Given the description of an element on the screen output the (x, y) to click on. 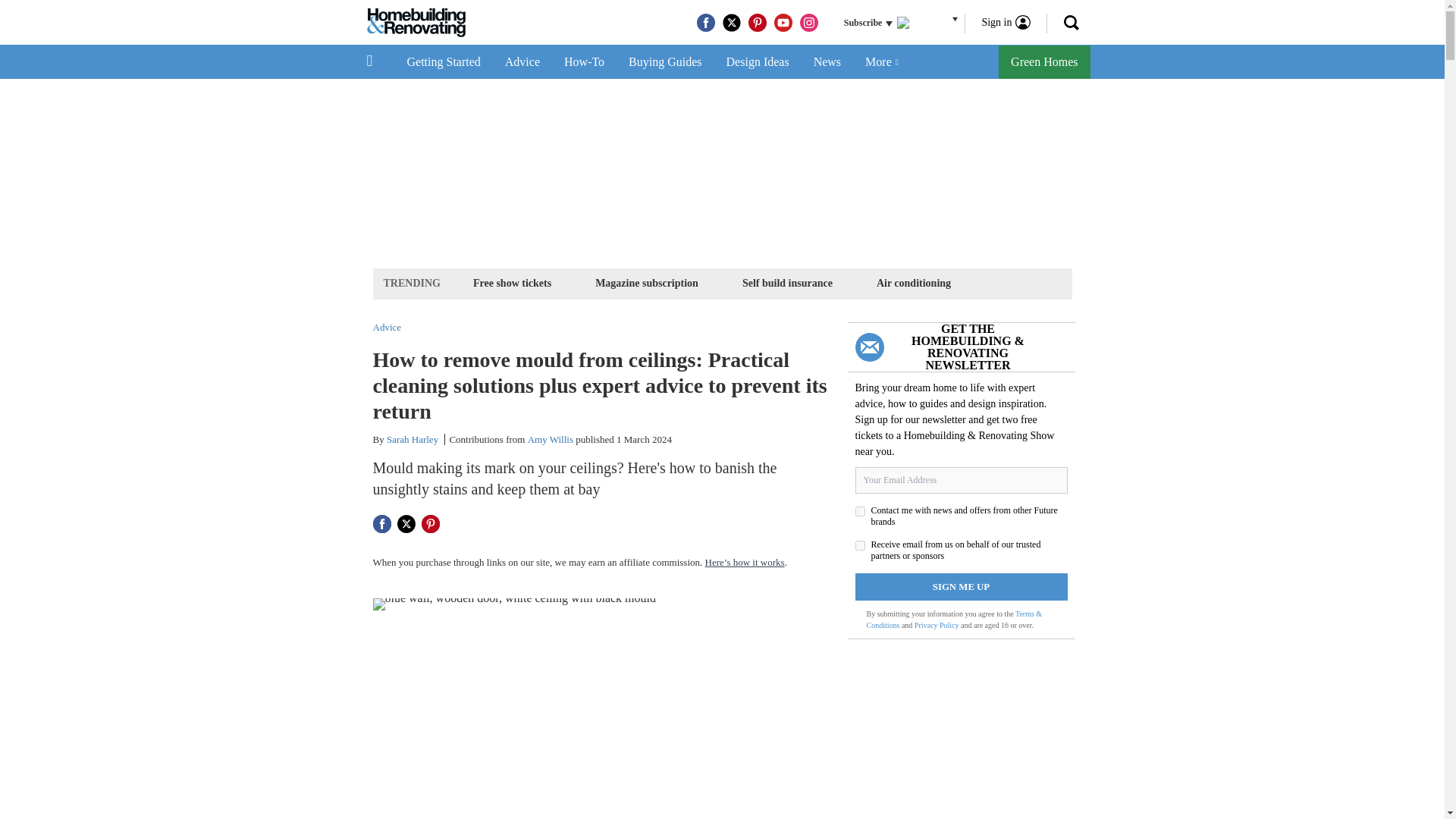
Free show tickets (511, 282)
on (860, 511)
Design Ideas (758, 61)
Buying Guides (664, 61)
How-To (583, 61)
Advice (522, 61)
Self build insurance (787, 282)
Sarah Harley (412, 439)
News (827, 61)
on (860, 545)
